Given the description of an element on the screen output the (x, y) to click on. 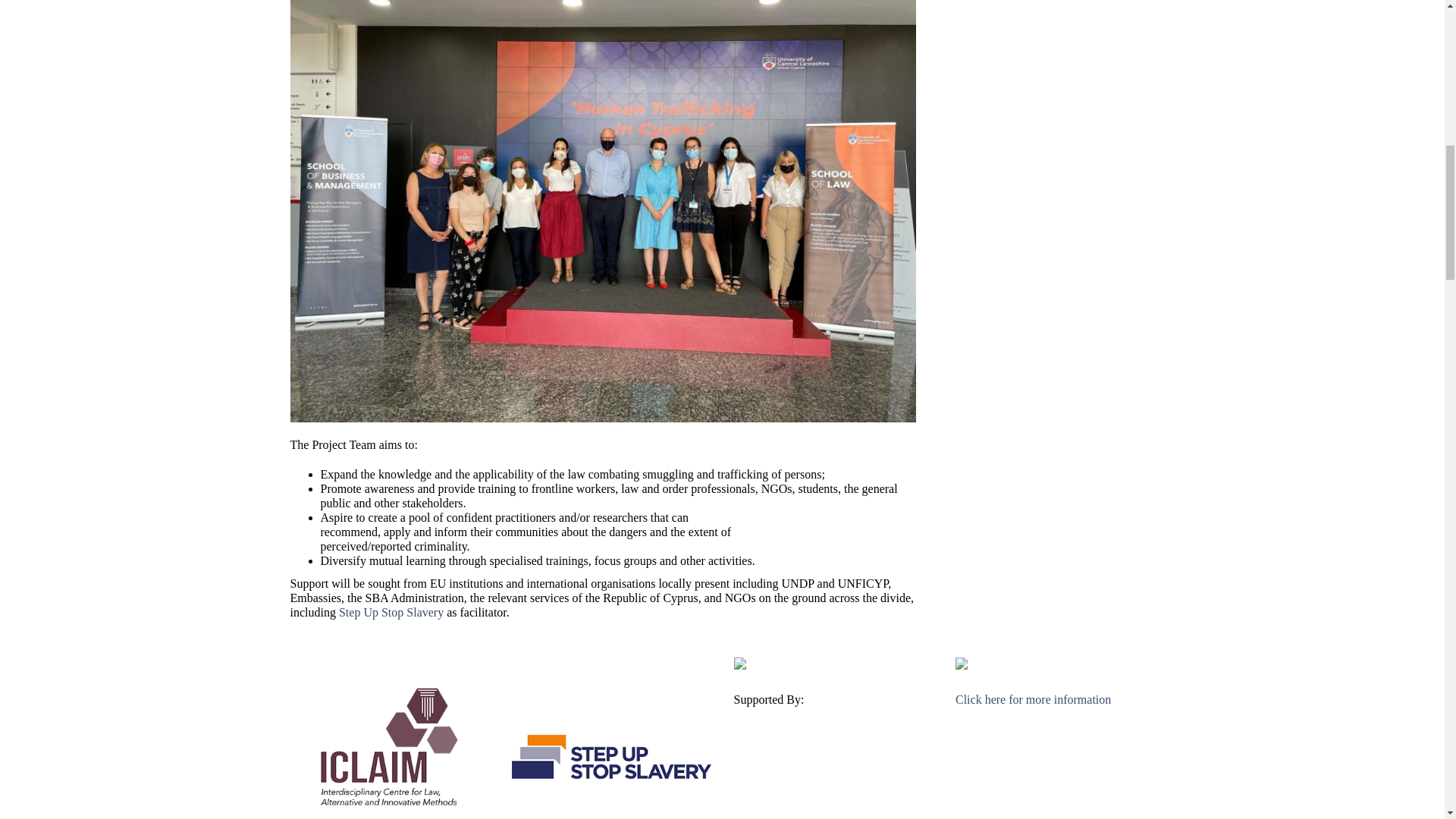
Click here for more information (1032, 698)
Step Up Stop Slavery (391, 612)
